Given the description of an element on the screen output the (x, y) to click on. 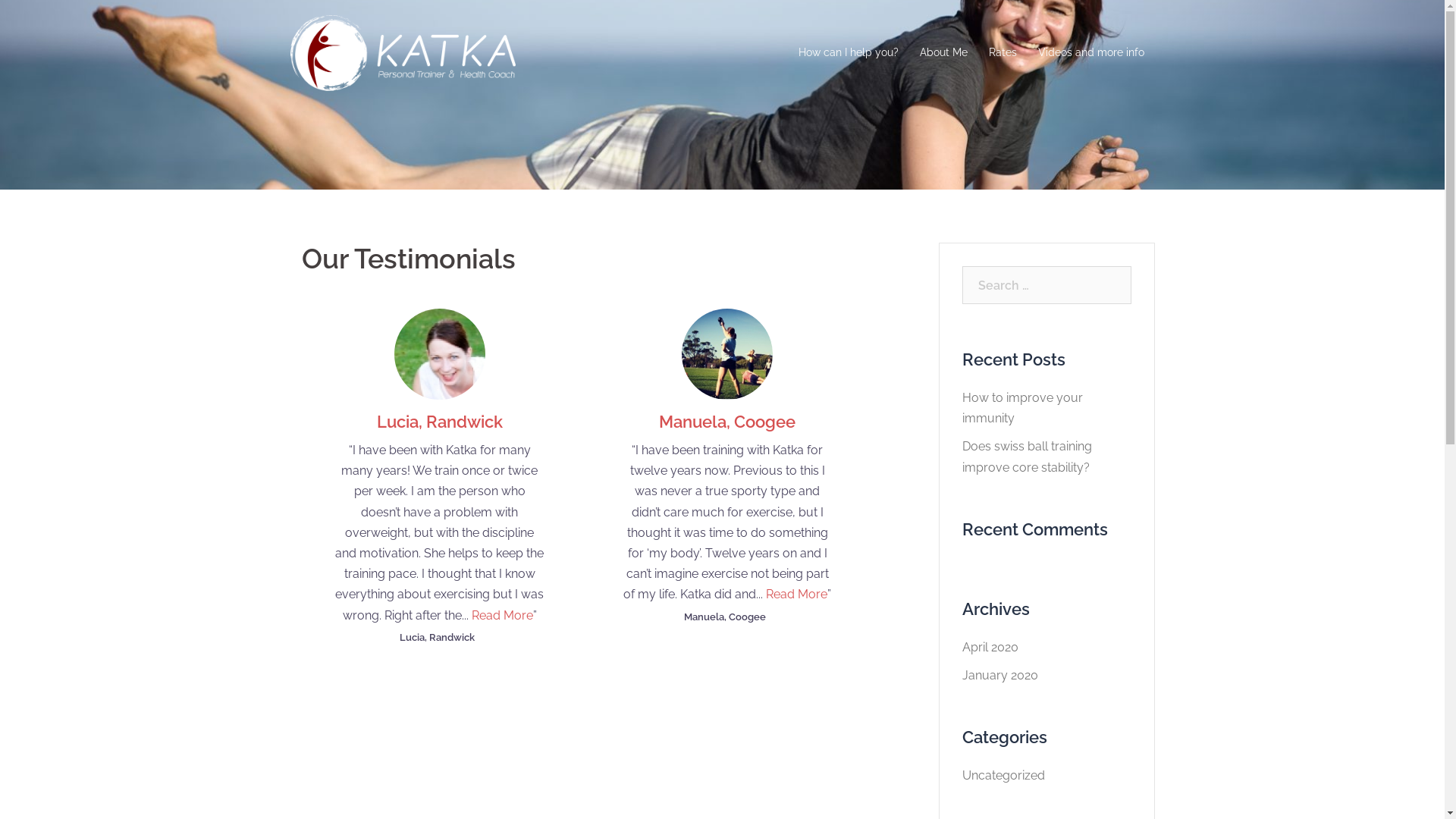
Skip to content Element type: text (0, 0)
January 2020 Element type: text (999, 675)
Uncategorized Element type: text (1002, 775)
How to improve your immunity Element type: text (1021, 407)
Rates Element type: text (1002, 52)
Read More Element type: text (796, 593)
Manuela, Coogee Element type: text (726, 421)
About Me Element type: text (942, 52)
April 2020 Element type: text (989, 647)
Lucia, Randwick Element type: text (439, 421)
Katka's Personal Training Element type: hover (401, 51)
Search Element type: text (46, 18)
Does swiss ball training improve core stability? Element type: text (1026, 456)
Read More Element type: text (502, 615)
Videos and more info Element type: text (1090, 52)
How can I help you? Element type: text (847, 52)
